Given the description of an element on the screen output the (x, y) to click on. 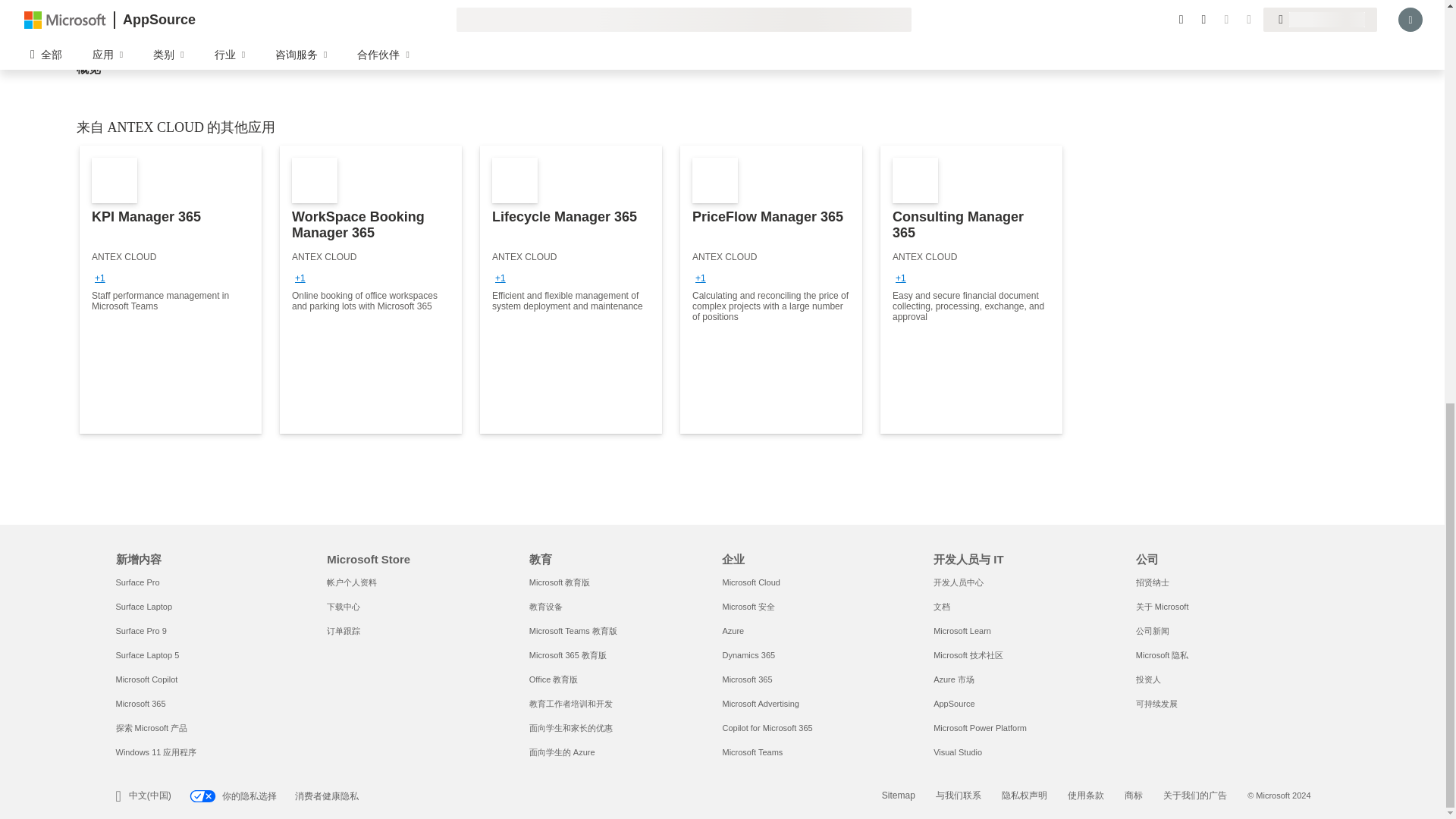
Surface Pro 9 (140, 630)
Surface Laptop 5 (147, 655)
Surface Pro (136, 582)
Microsoft Copilot (146, 678)
Microsoft 365 (140, 703)
Surface Laptop (143, 605)
